Given the description of an element on the screen output the (x, y) to click on. 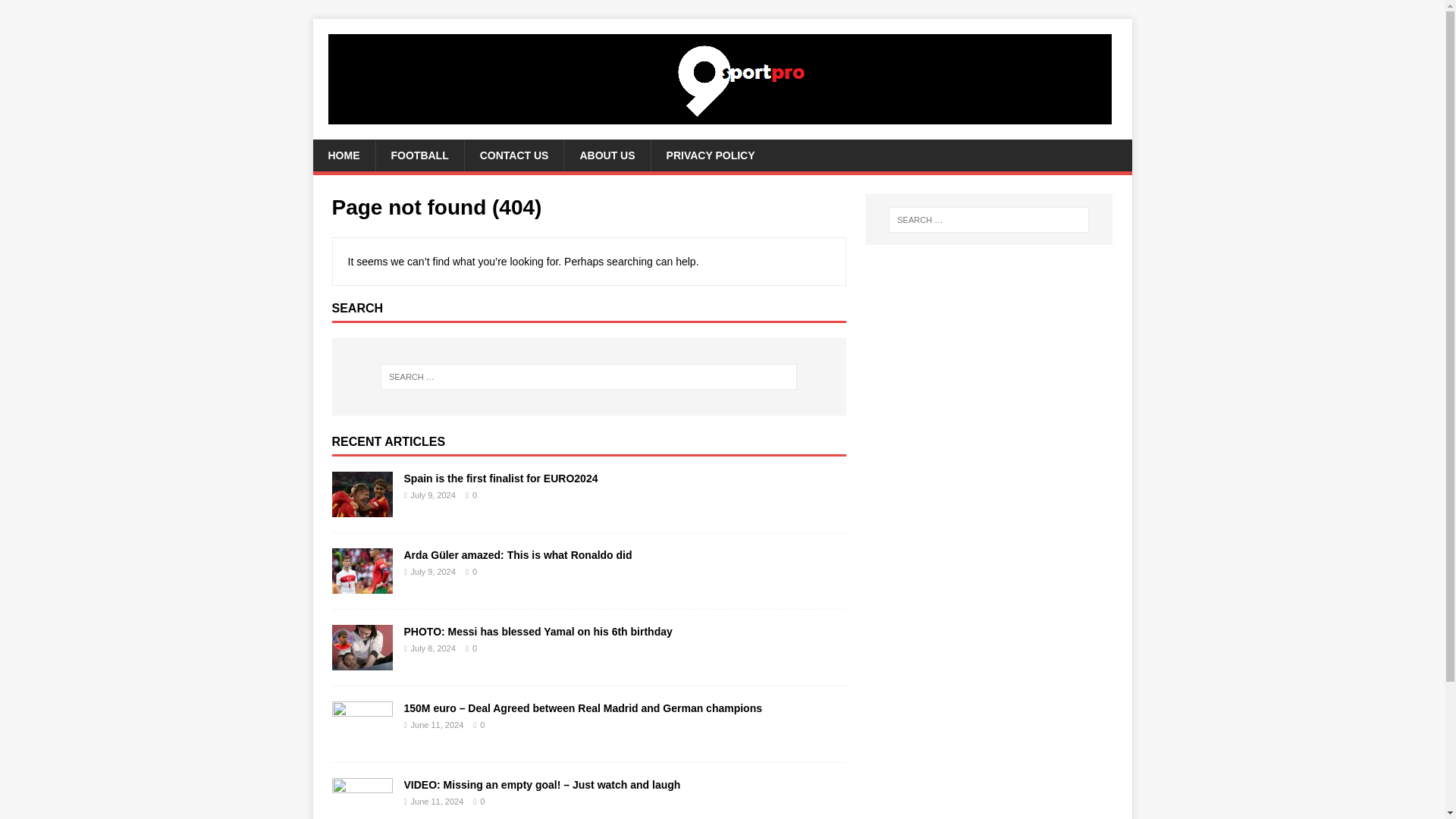
Spain is the first finalist for EURO2024 (362, 508)
PHOTO: Messi has blessed Yamal on his 6th birthday (362, 661)
PRIVACY POLICY (710, 155)
Spain is the first finalist for EURO2024 (499, 478)
CONTACT US (514, 155)
PHOTO: Messi has blessed Yamal on his 6th birthday (537, 631)
ABOUT US (606, 155)
Search (56, 11)
PHOTO: Messi has blessed Yamal on his 6th birthday (537, 631)
FOOTBALL (418, 155)
HOME (343, 155)
Spain is the first finalist for EURO2024 (499, 478)
